Given the description of an element on the screen output the (x, y) to click on. 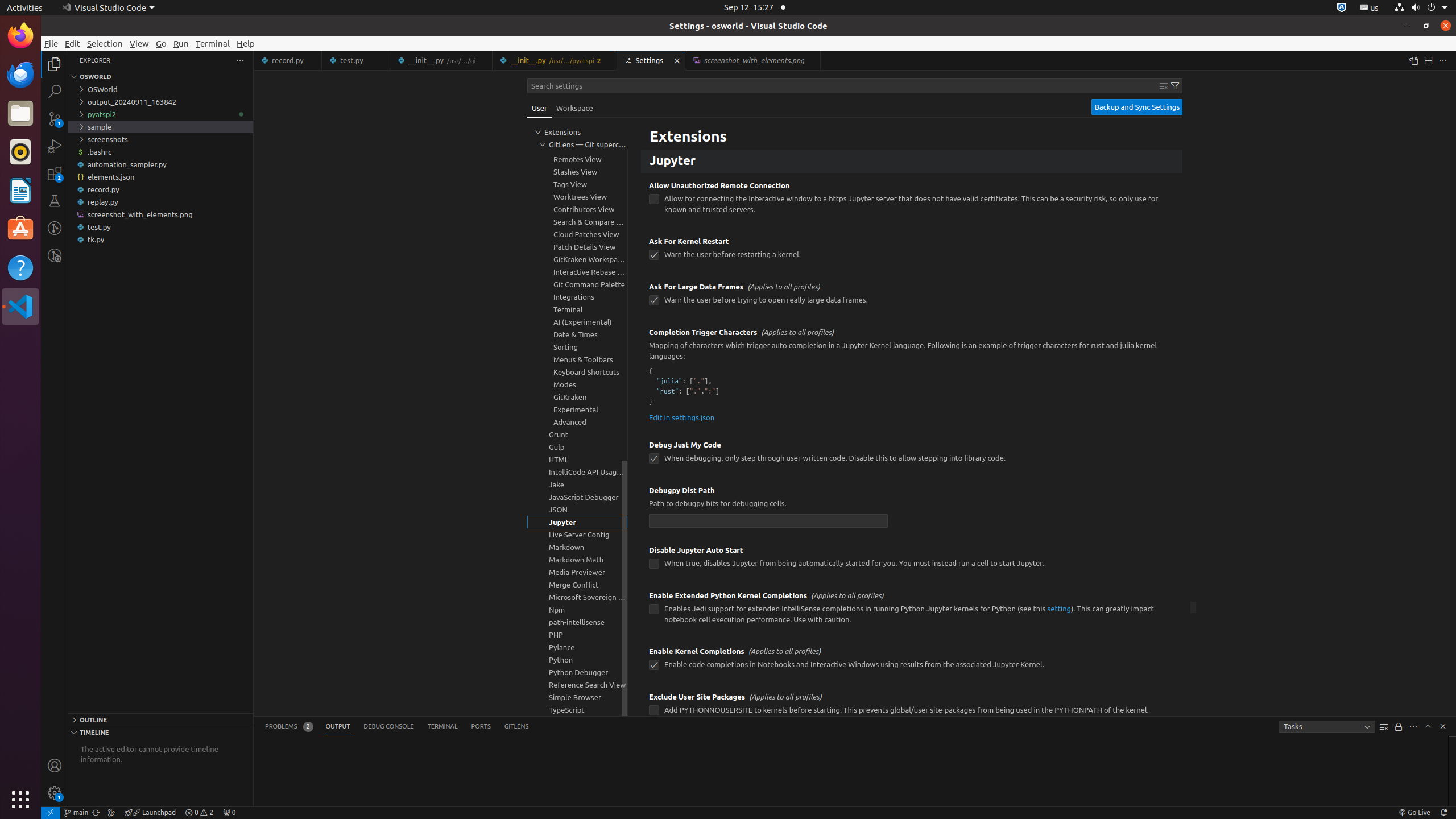
jupyter.debugJustMyCode Element type: check-box (653, 458)
 Debug Just My Code. When debugging, only step through user-written code. Disable this to allow stepping into library code.  Element type: tree-item (911, 455)
Gulp, group Element type: tree-item (577, 446)
jupyter.enableExtendedPythonKernelCompletions Element type: check-box (653, 609)
